Given the description of an element on the screen output the (x, y) to click on. 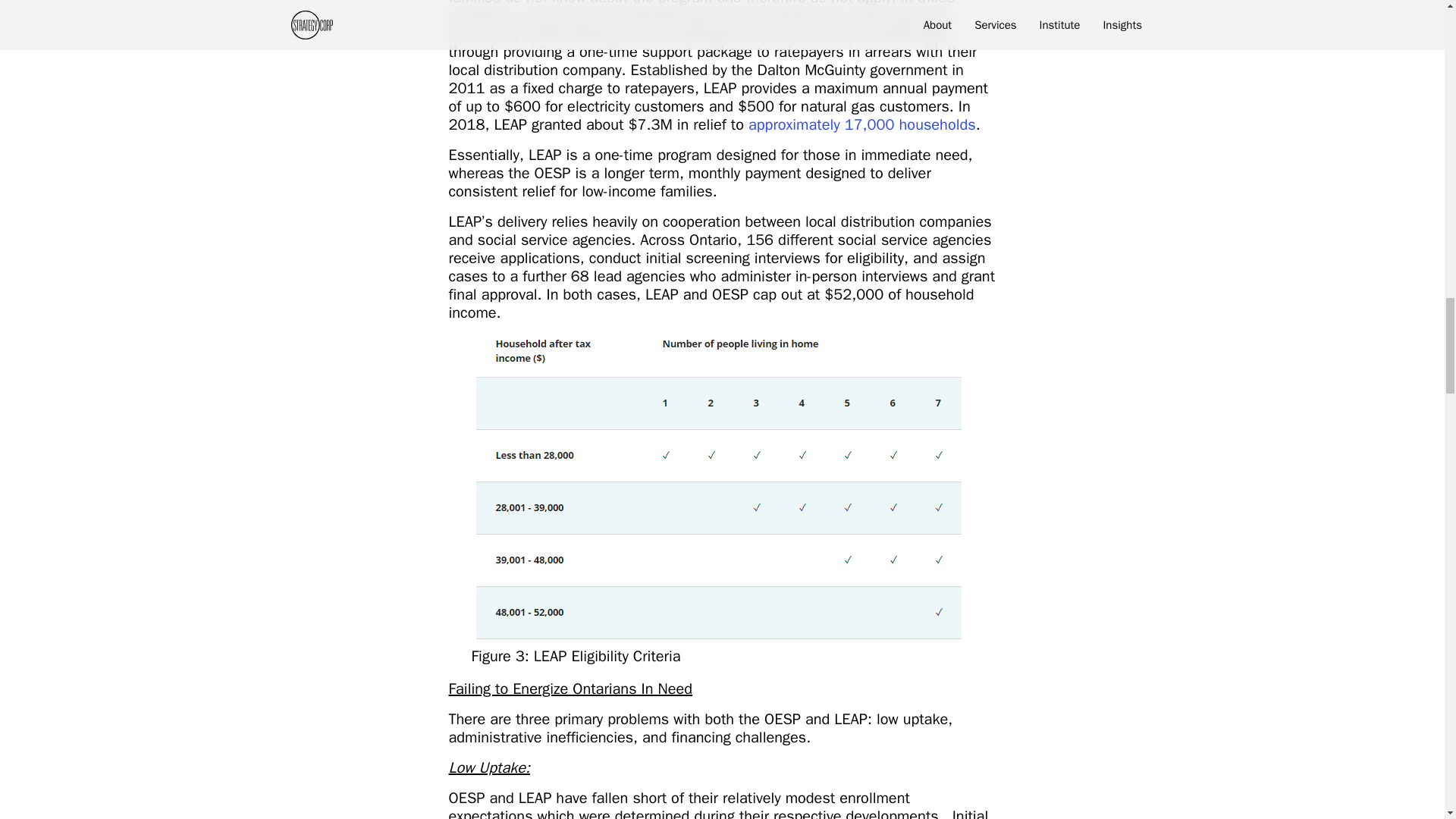
approximately 17,000 households (861, 124)
